Given the description of an element on the screen output the (x, y) to click on. 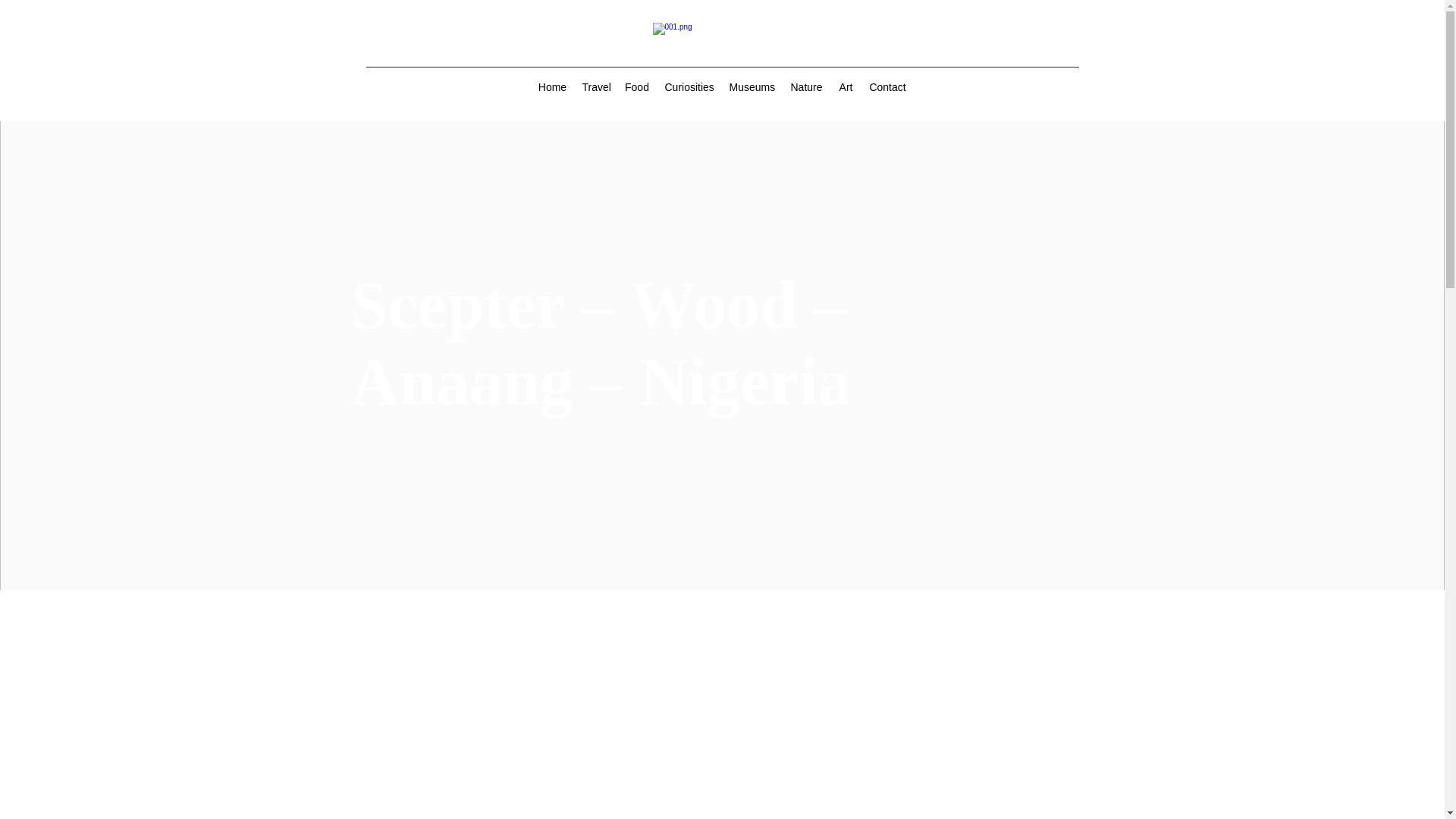
Food (637, 87)
Art (846, 87)
Home (553, 87)
Curiosities (688, 87)
Contact (887, 87)
Nature (807, 87)
Museums (752, 87)
Travel (596, 87)
